Given the description of an element on the screen output the (x, y) to click on. 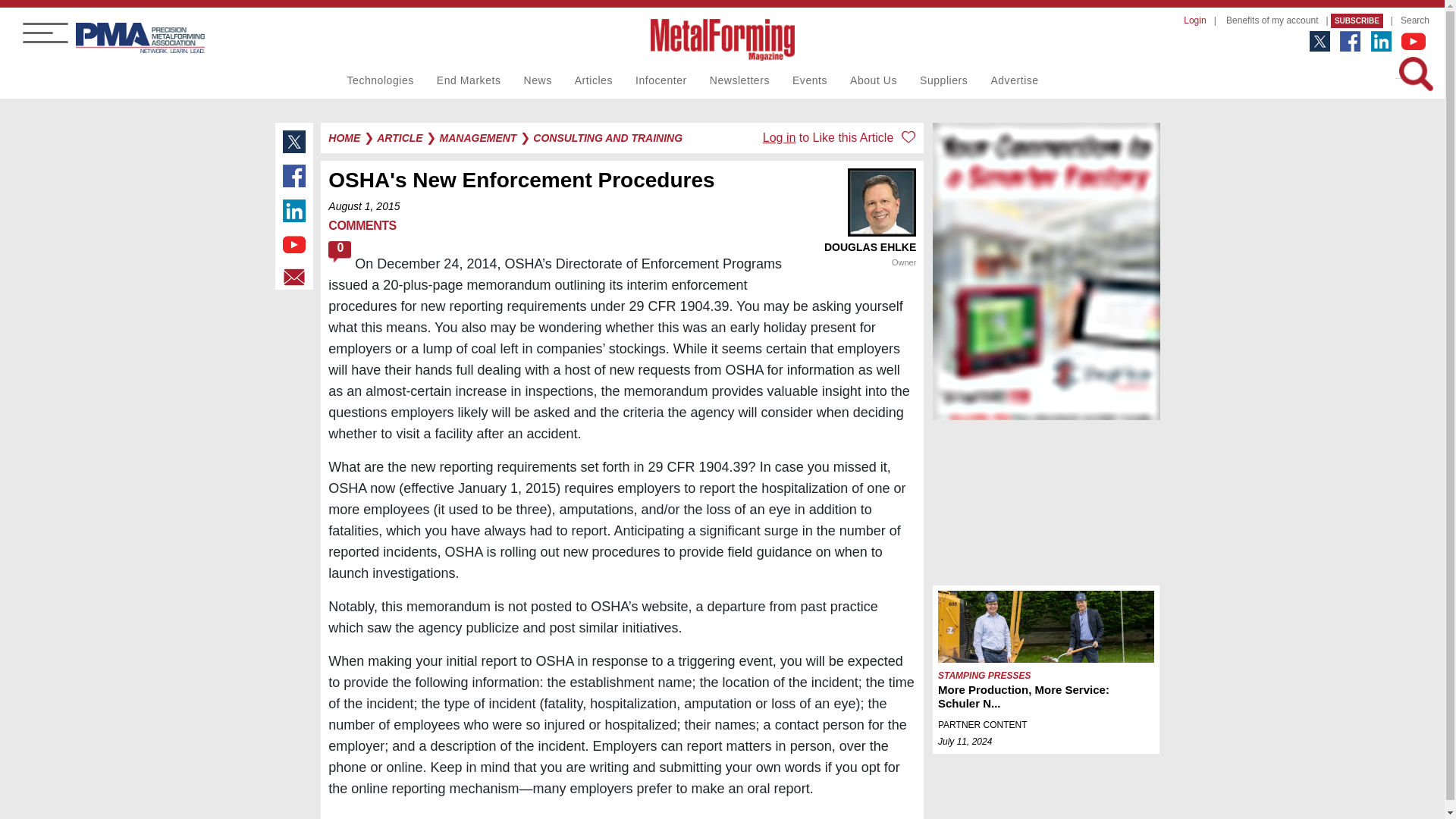
Login (1190, 17)
Benefits of my account (1267, 17)
Search (1411, 17)
SUBSCRIBE (1356, 20)
